Given the description of an element on the screen output the (x, y) to click on. 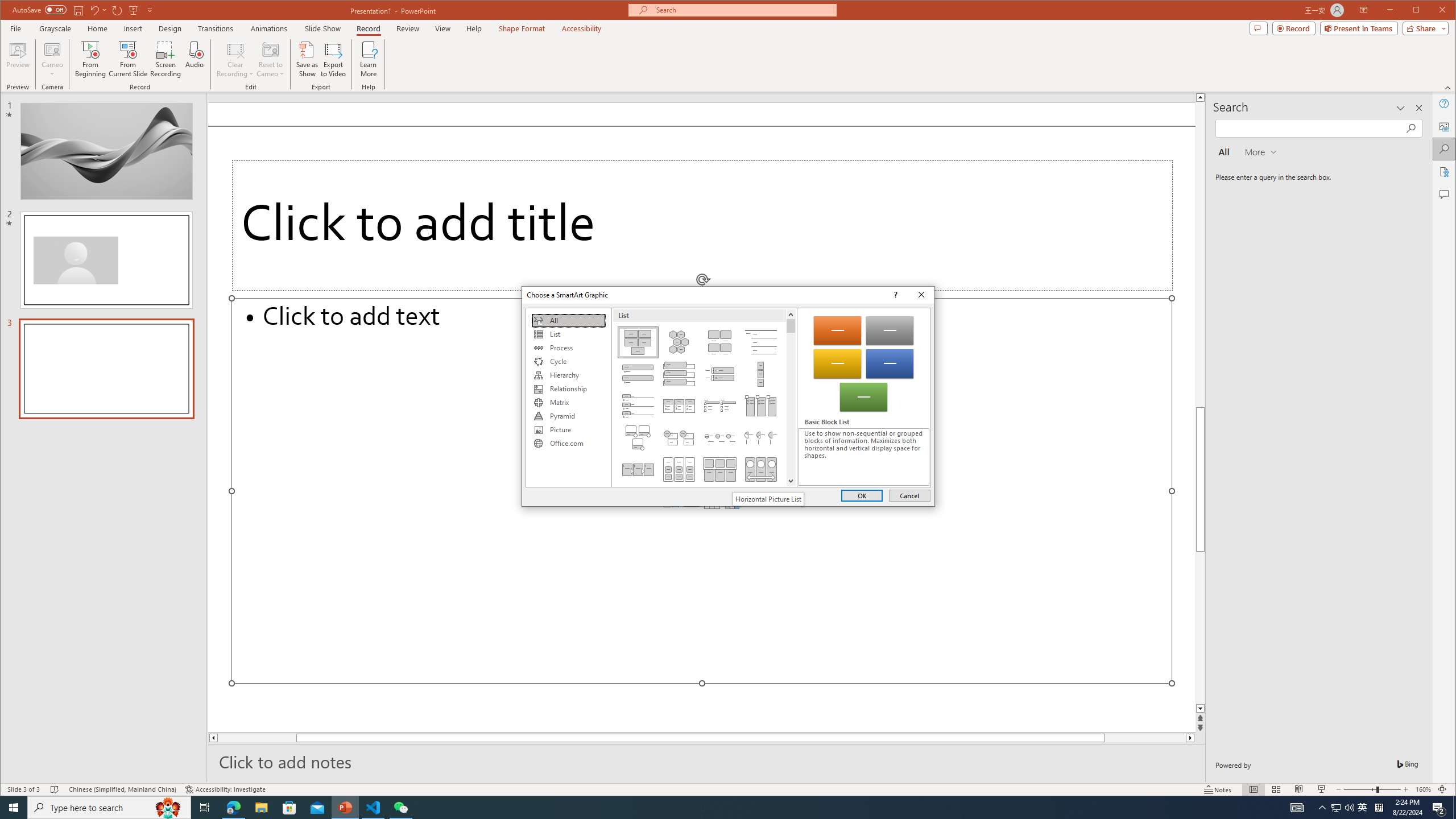
Cancel (909, 495)
Class: NetUITextbox (862, 456)
All (568, 320)
From Beginning... (90, 59)
Zoom 160% (1422, 789)
Detailed Process (637, 469)
Square Accent List (719, 405)
Continuous Picture List (761, 469)
